Given the description of an element on the screen output the (x, y) to click on. 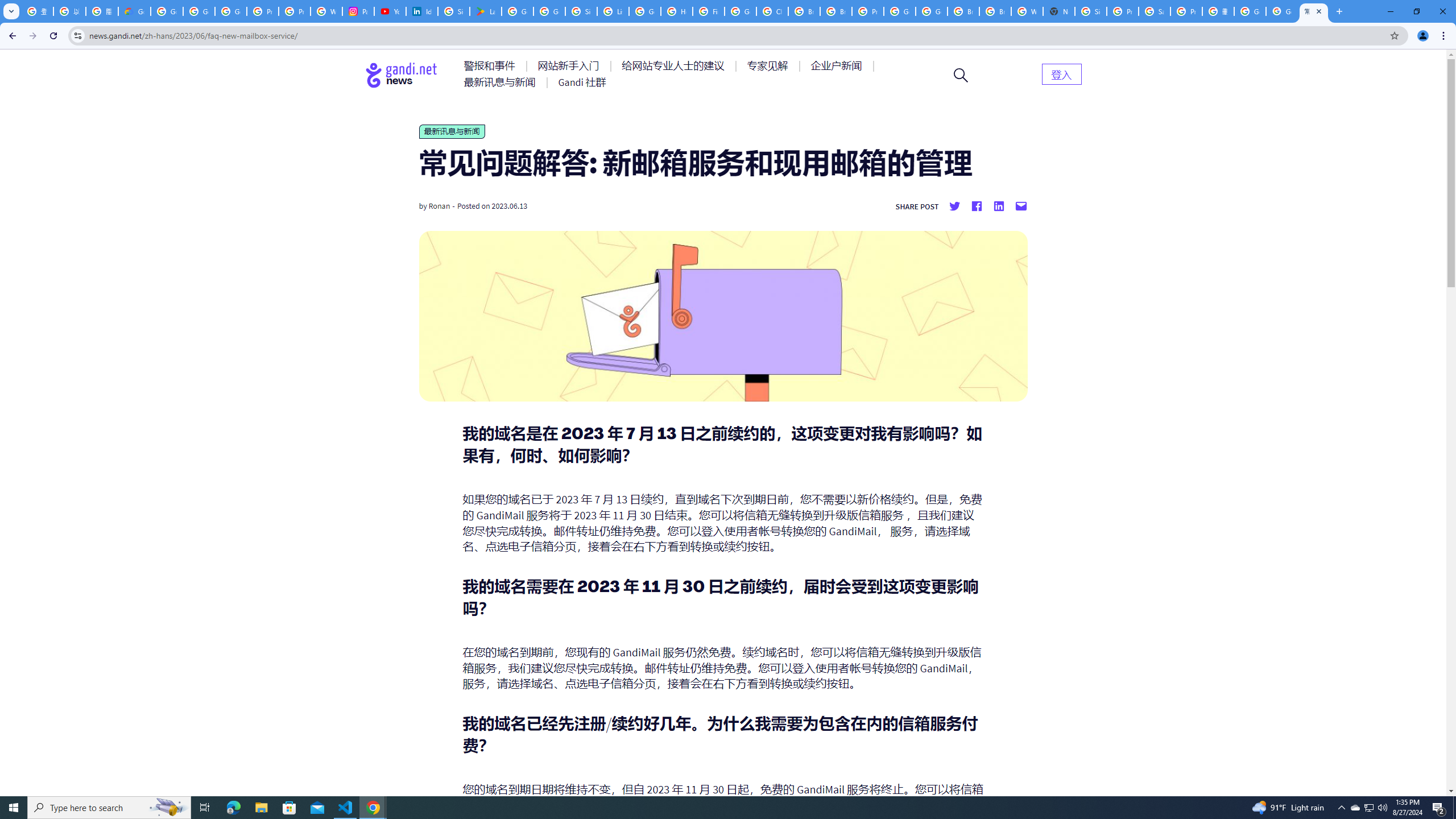
AutomationID: menu-item-77761 (492, 65)
Google Cloud Platform (931, 11)
Go to home (401, 75)
AutomationID: menu-item-82399 (1061, 73)
AutomationID: menu-item-77764 (769, 65)
